Given the description of an element on the screen output the (x, y) to click on. 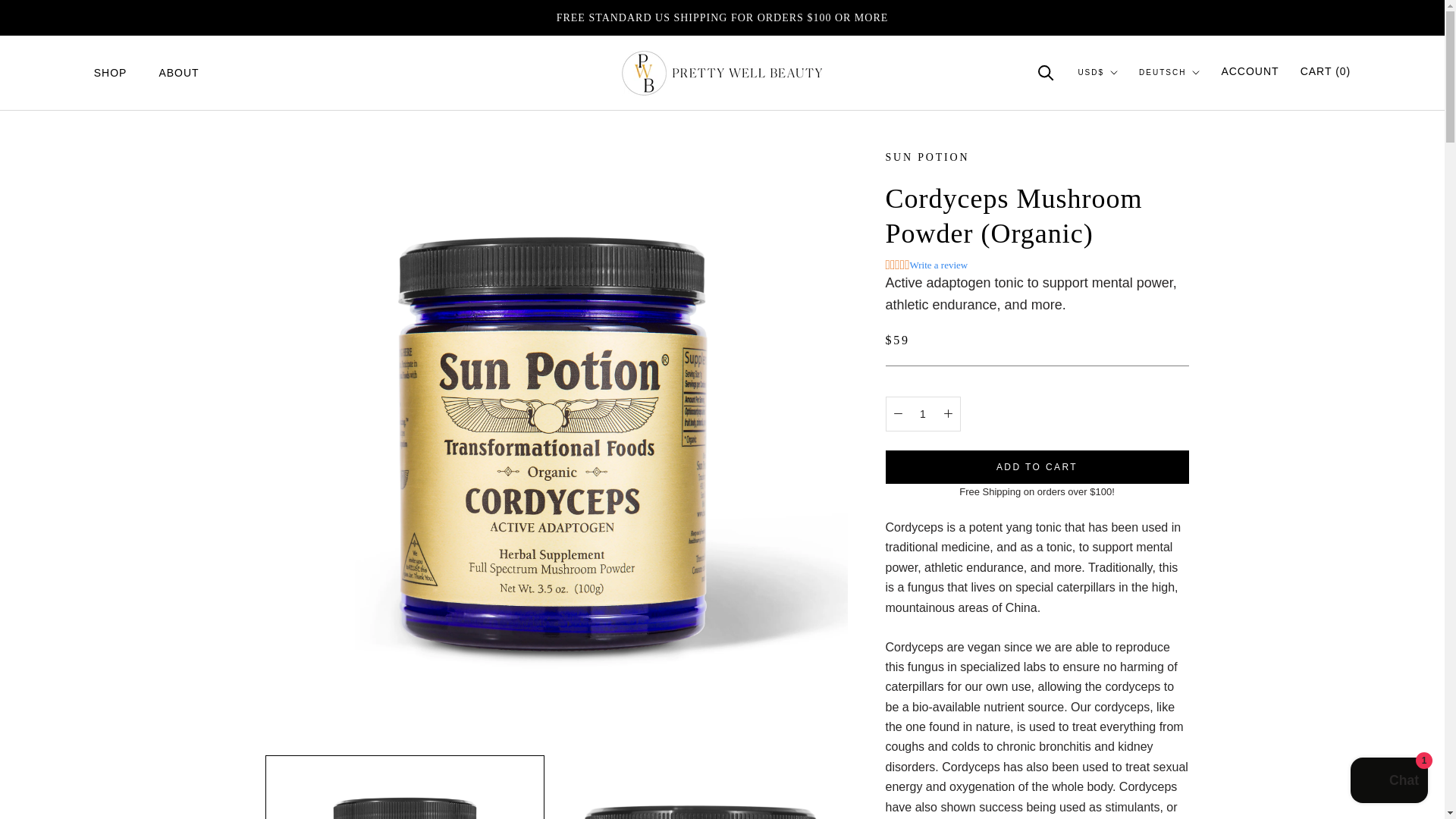
Onlineshop-Chat von Shopify (1388, 781)
